Given the description of an element on the screen output the (x, y) to click on. 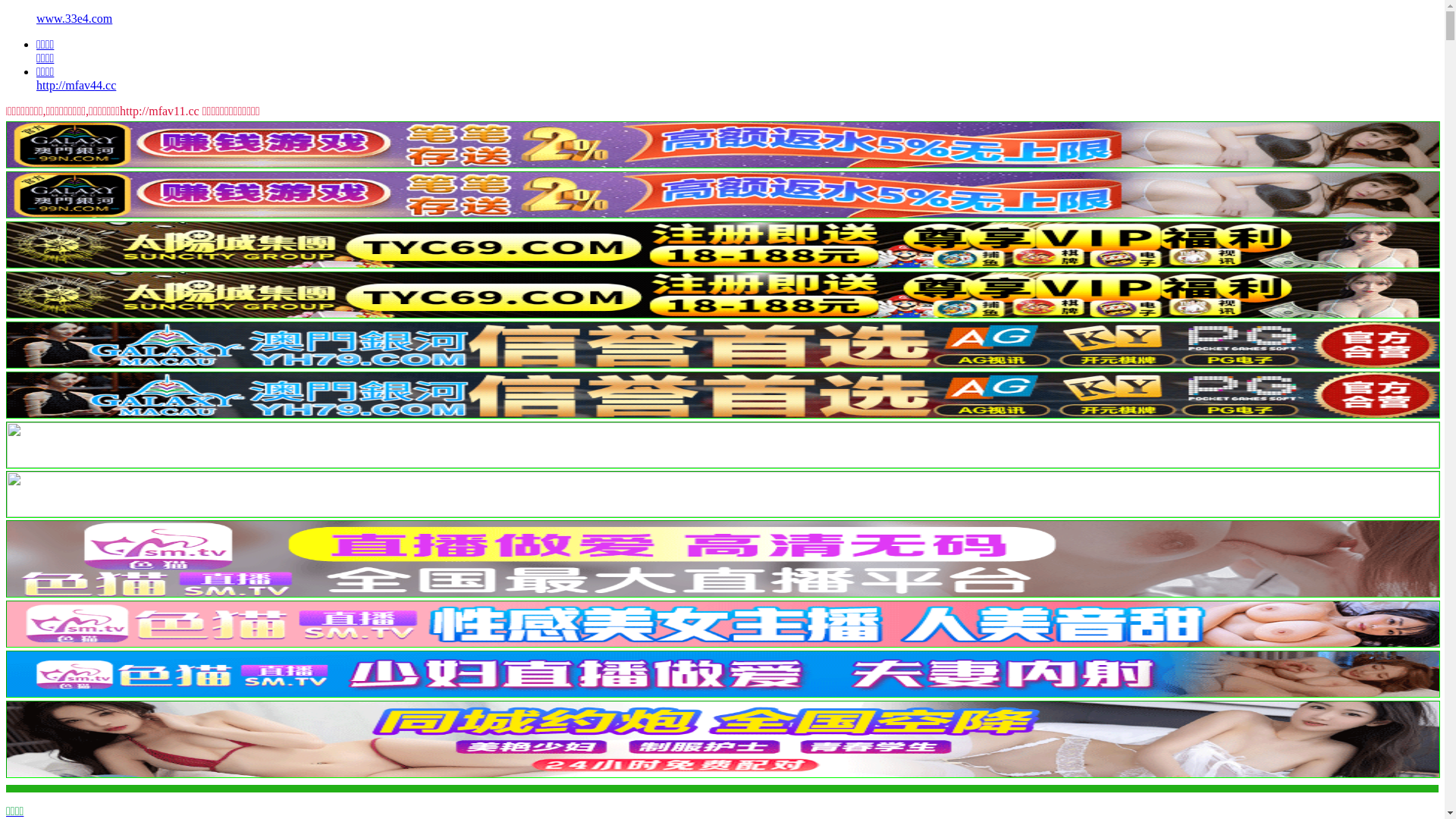
www.33e4.com Element type: text (74, 18)
http://mfav44.cc Element type: text (76, 84)
